Given the description of an element on the screen output the (x, y) to click on. 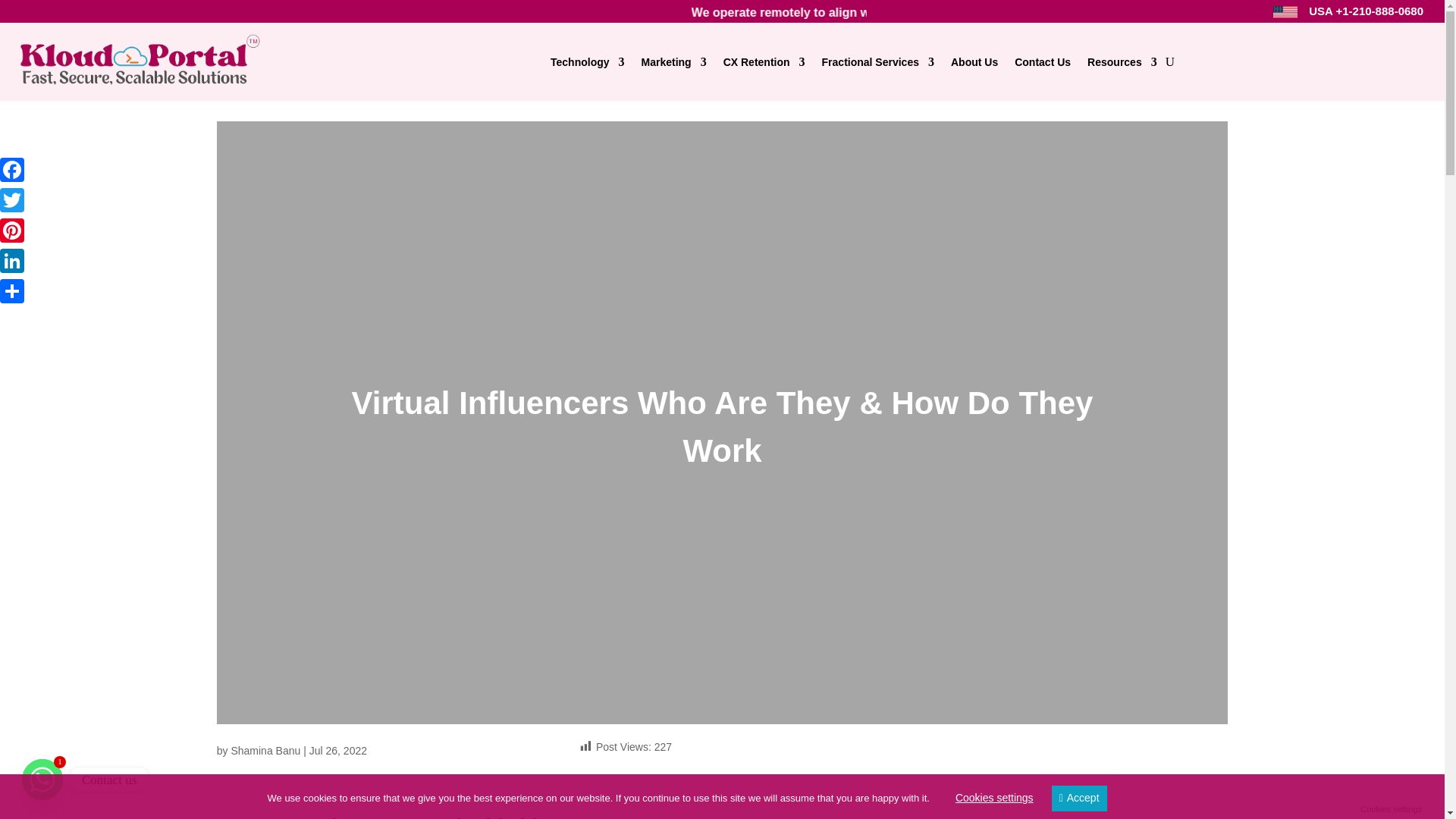
CX Retention (764, 61)
Technology (587, 61)
Pinterest (13, 230)
Posts by Shamina Banu (264, 750)
Resources (1122, 61)
Facebook (13, 169)
Twitter (13, 200)
Fractional Services (878, 61)
